Given the description of an element on the screen output the (x, y) to click on. 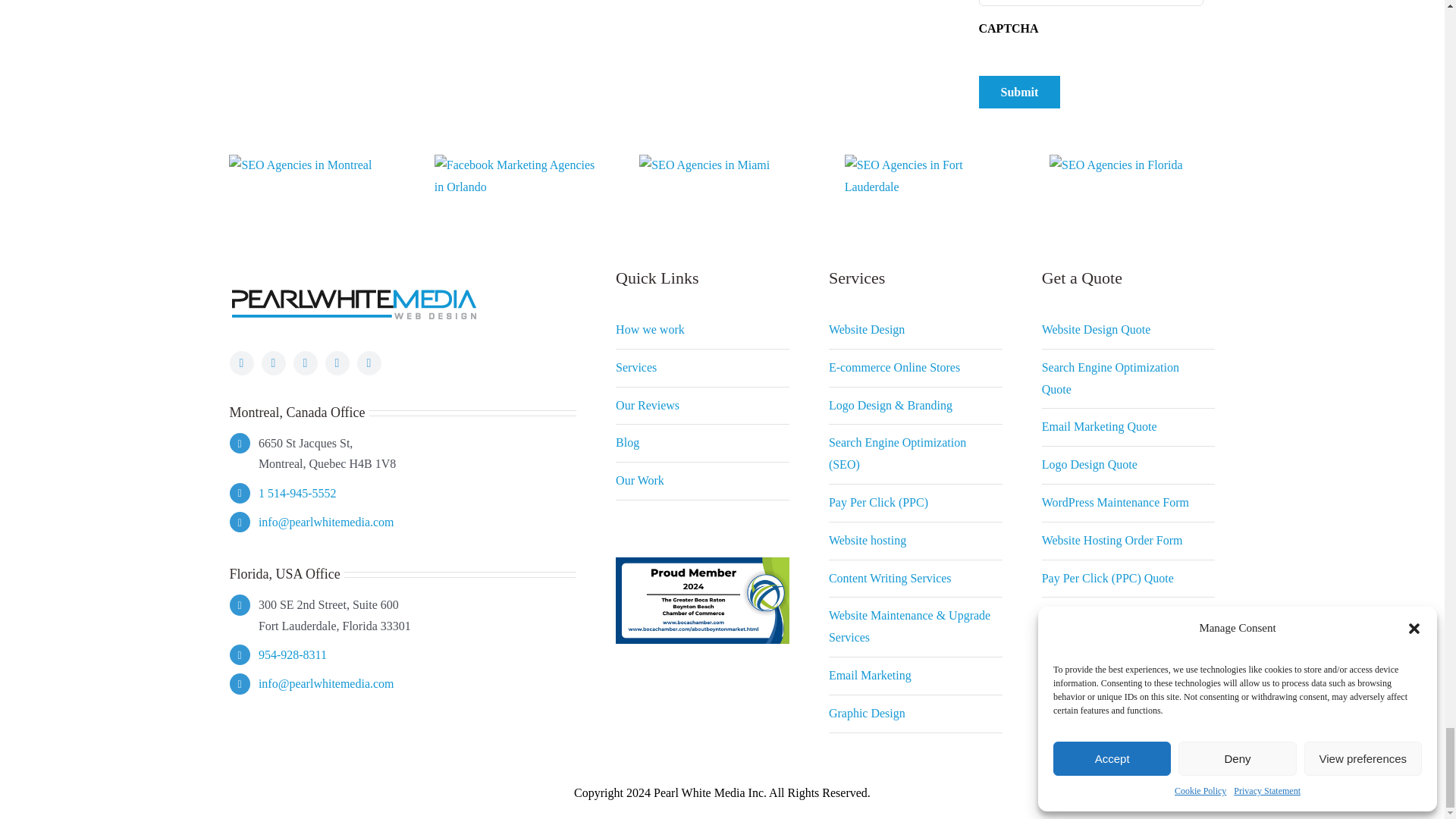
Submit (1018, 92)
